Given the description of an element on the screen output the (x, y) to click on. 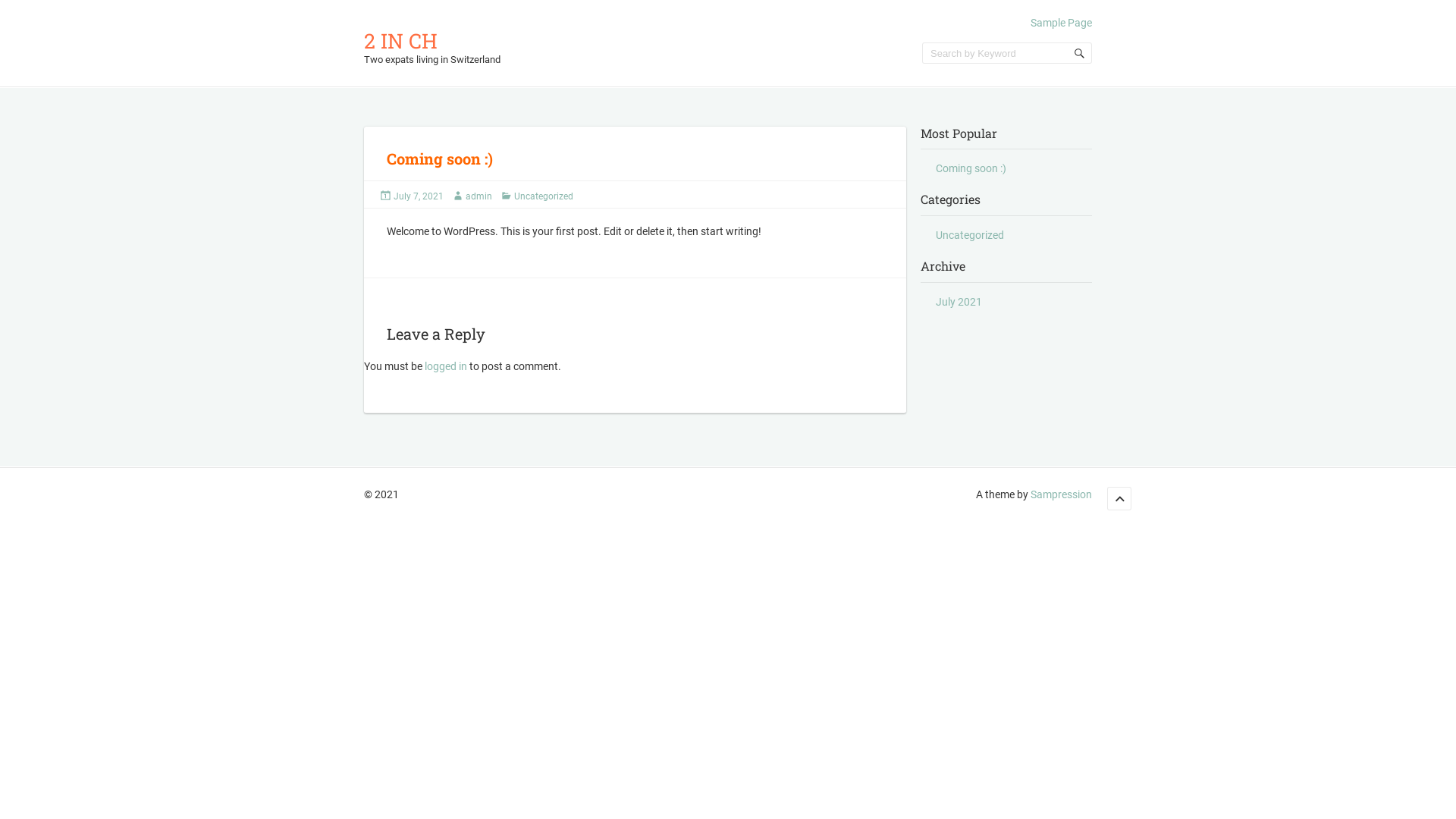
Sample Page Element type: text (1061, 22)
July 2021 Element type: text (958, 301)
admin Element type: text (478, 196)
Sampression Element type: text (1061, 494)
2 IN CH Element type: text (400, 40)
July 7, 2021 Element type: text (418, 196)
Uncategorized Element type: text (543, 196)
Coming soon :) Element type: text (970, 168)
logged in Element type: text (445, 366)
Uncategorized Element type: text (969, 235)
